Given the description of an element on the screen output the (x, y) to click on. 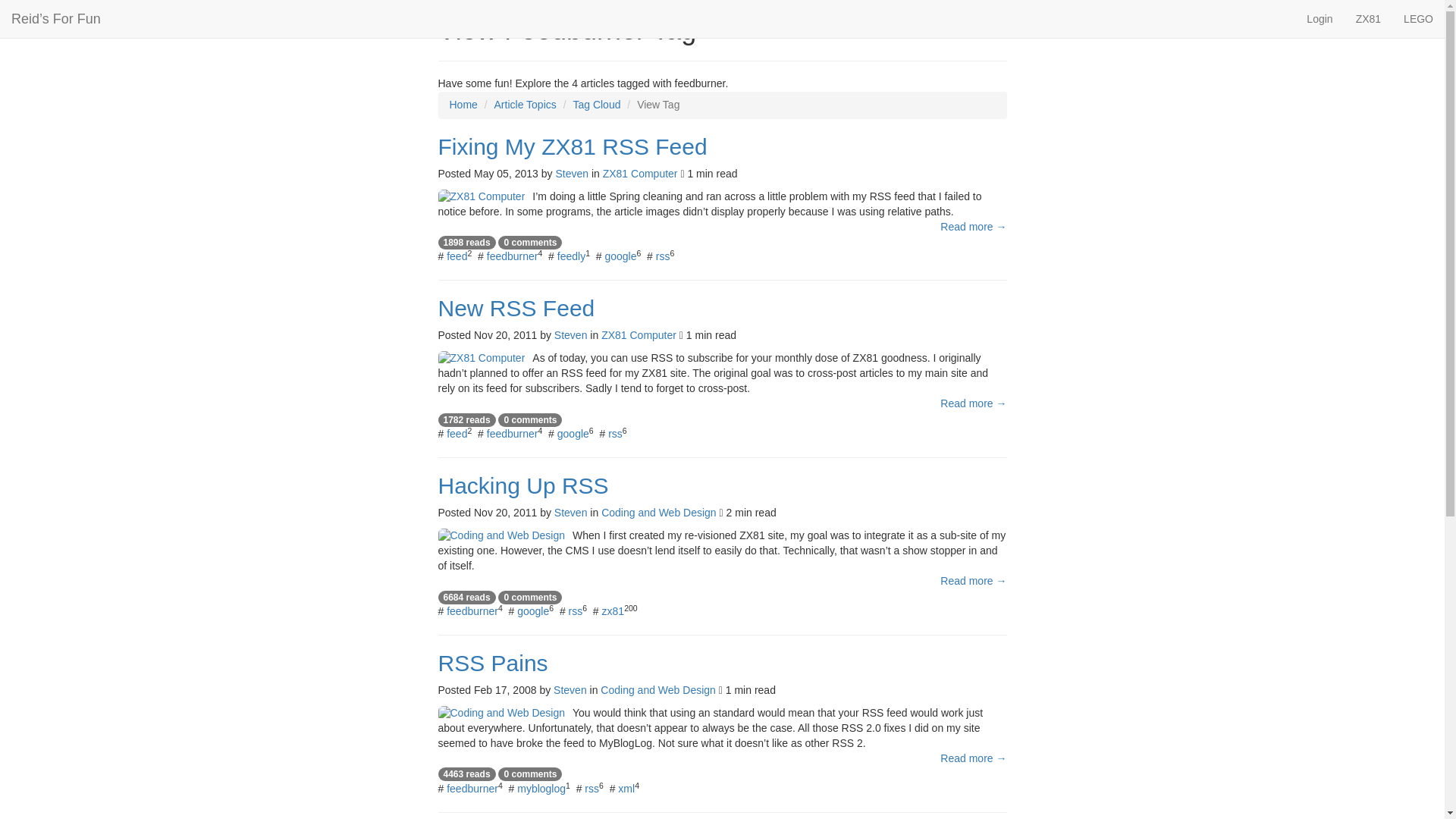
Home (462, 104)
google (620, 256)
Login (1319, 18)
feedburner (512, 256)
feed (456, 433)
ZX81 Computer (640, 173)
View change log (1283, 11)
rss (662, 256)
ZX81 Computer (639, 335)
New RSS Feed (722, 308)
